Given the description of an element on the screen output the (x, y) to click on. 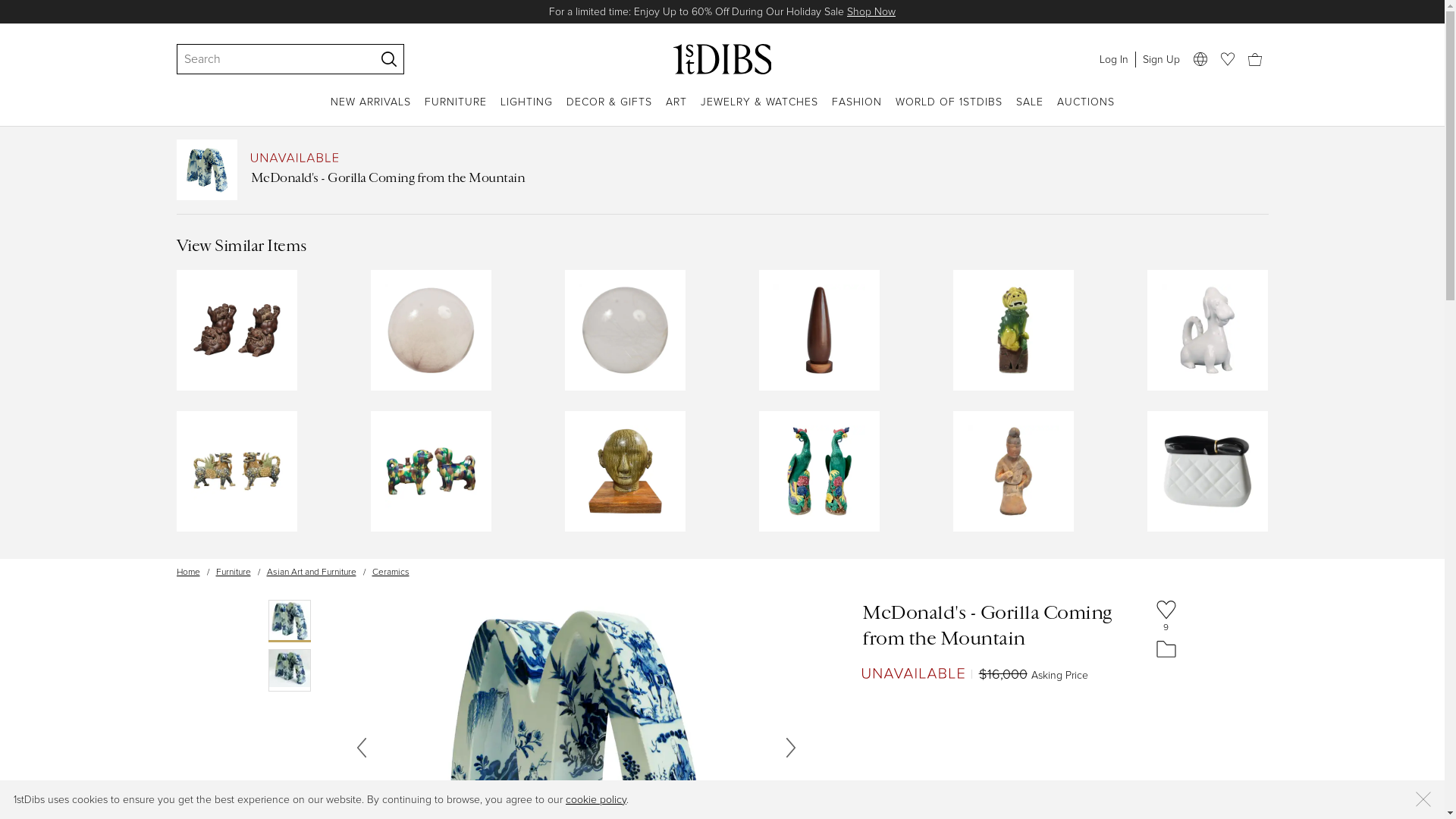
LIGHTING Element type: text (526, 109)
JEWELRY & WATCHES Element type: text (759, 109)
NEW ARRIVALS Element type: text (370, 109)
FASHION Element type: text (856, 109)
Asian Art and Furniture Element type: text (311, 571)
ART Element type: text (676, 109)
SALE Element type: text (1029, 109)
Sign Up Element type: text (1160, 59)
Search Element type: hover (268, 58)
Home Element type: text (187, 571)
Ceramics Element type: text (389, 571)
AUCTIONS Element type: text (1085, 109)
DECOR & GIFTS Element type: text (608, 109)
SKIP TO MAIN CONTENT Element type: text (6, 6)
Details Element type: text (885, 11)
Log In Element type: text (1113, 59)
WORLD OF 1STDIBS Element type: text (947, 109)
cookie policy Element type: text (595, 799)
FURNITURE Element type: text (455, 109)
Furniture Element type: text (232, 571)
